Given the description of an element on the screen output the (x, y) to click on. 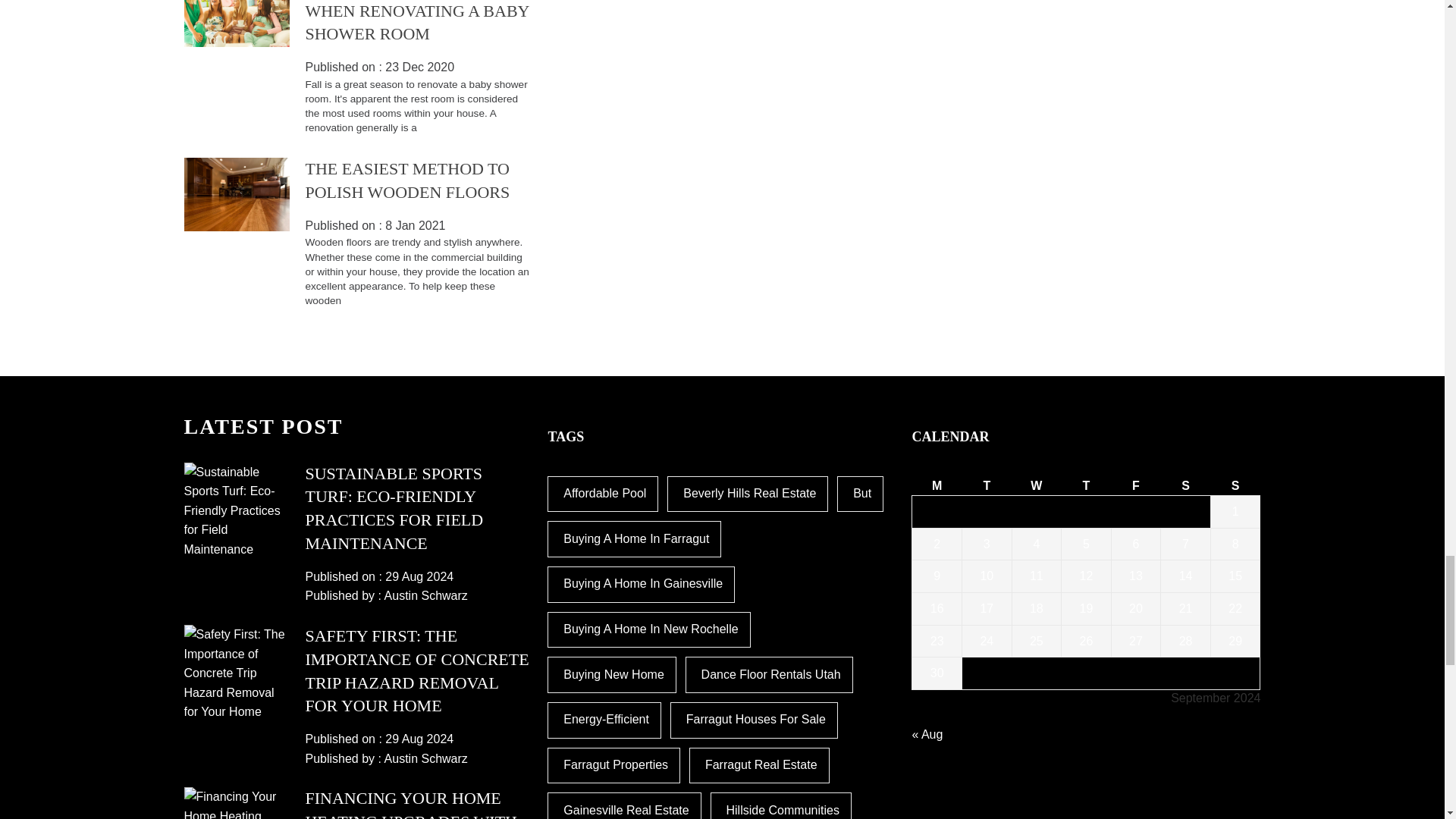
Sunday (1234, 485)
Friday (1135, 485)
Wednesday (1036, 485)
Saturday (1185, 485)
Tuesday (986, 485)
Monday (937, 485)
Thursday (1086, 485)
